Given the description of an element on the screen output the (x, y) to click on. 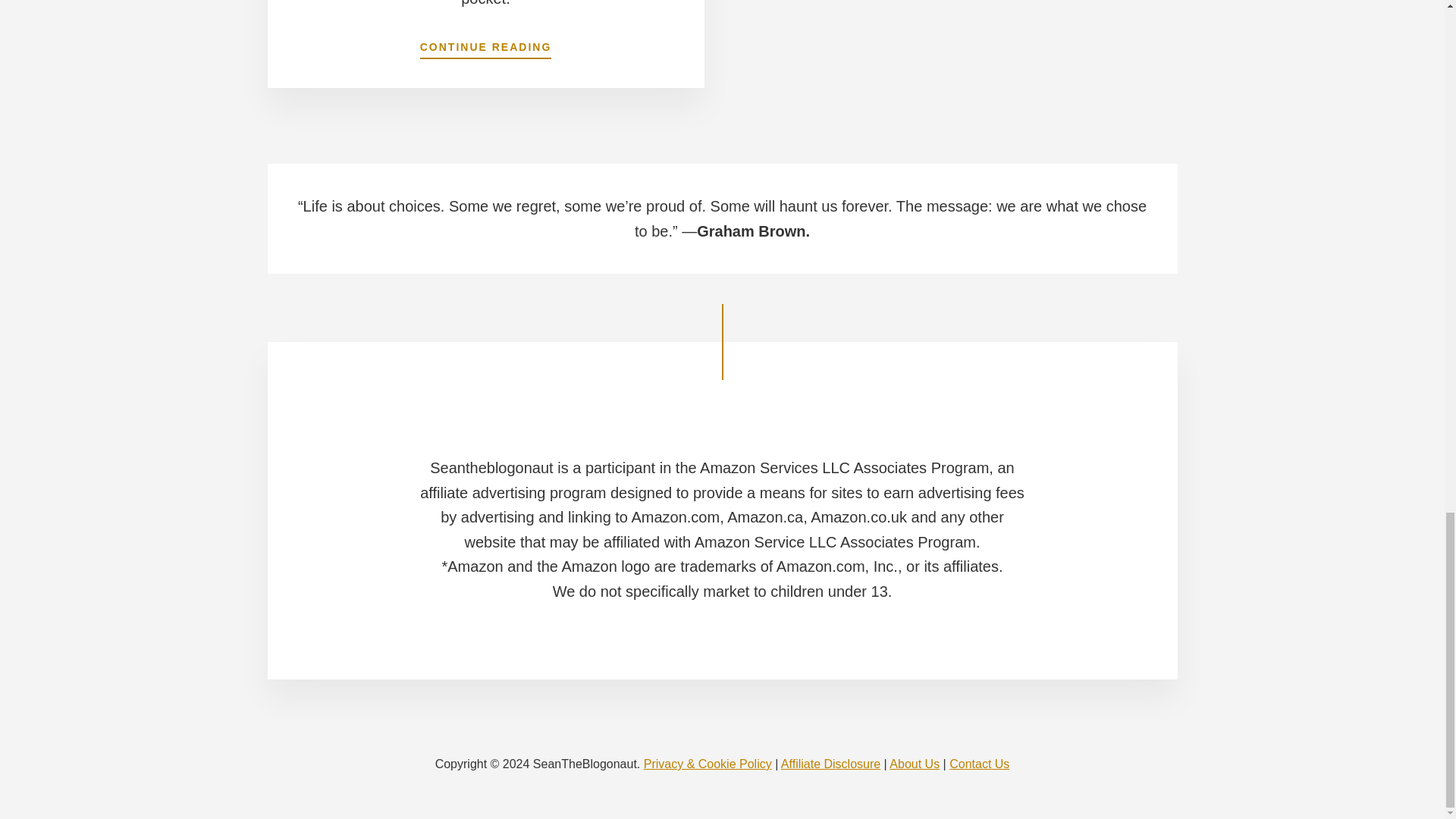
About Us (914, 763)
Contact Us (979, 763)
Affiliate Disclosure (830, 763)
CONTINUE READING (485, 43)
